Given the description of an element on the screen output the (x, y) to click on. 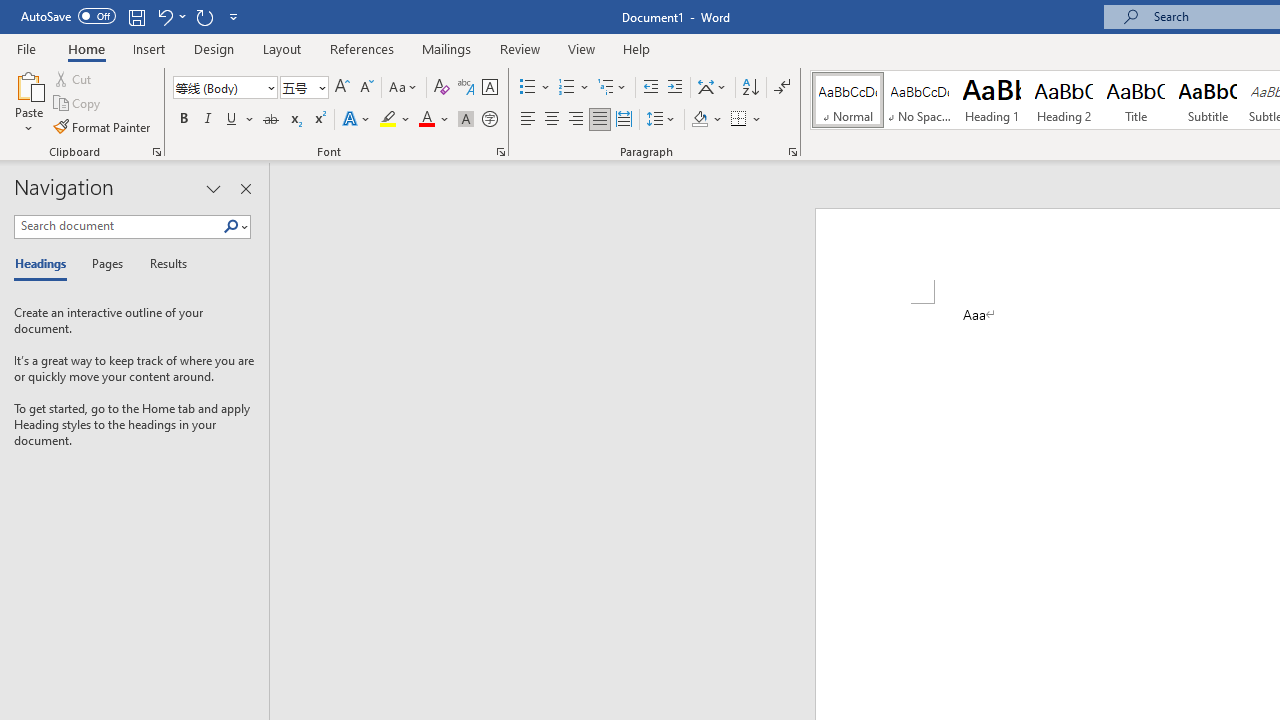
Title (1135, 100)
Grow Font (342, 87)
Heading 1 (991, 100)
Character Border (489, 87)
Show/Hide Editing Marks (781, 87)
Paragraph... (792, 151)
Shrink Font (365, 87)
Enclose Characters... (489, 119)
Headings (45, 264)
